Given the description of an element on the screen output the (x, y) to click on. 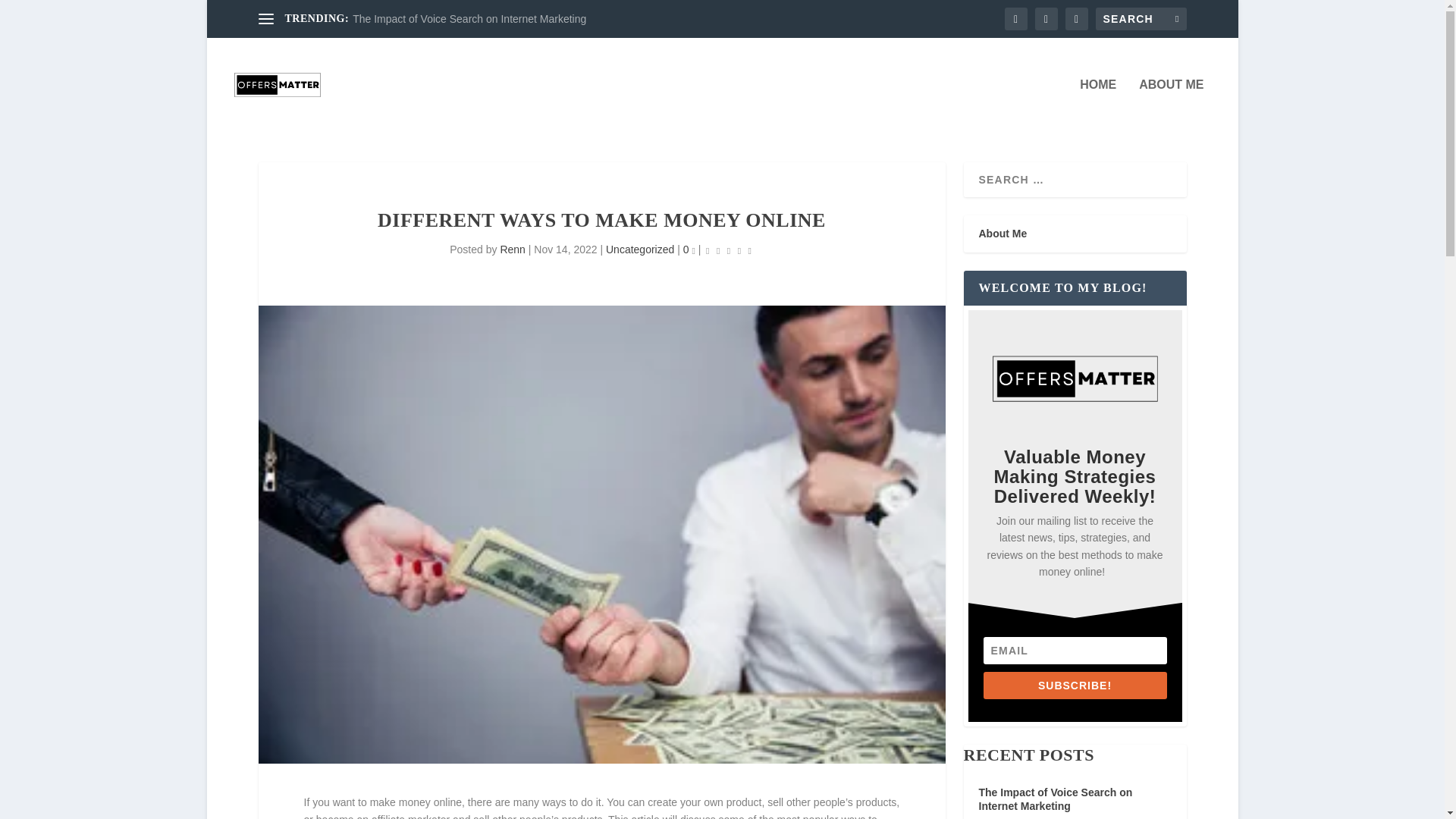
Renn (511, 249)
Posts by Renn (511, 249)
The Impact of Voice Search on Internet Marketing (469, 19)
Uncategorized (639, 249)
Rating: 0.00 (728, 250)
0 (688, 249)
